Given the description of an element on the screen output the (x, y) to click on. 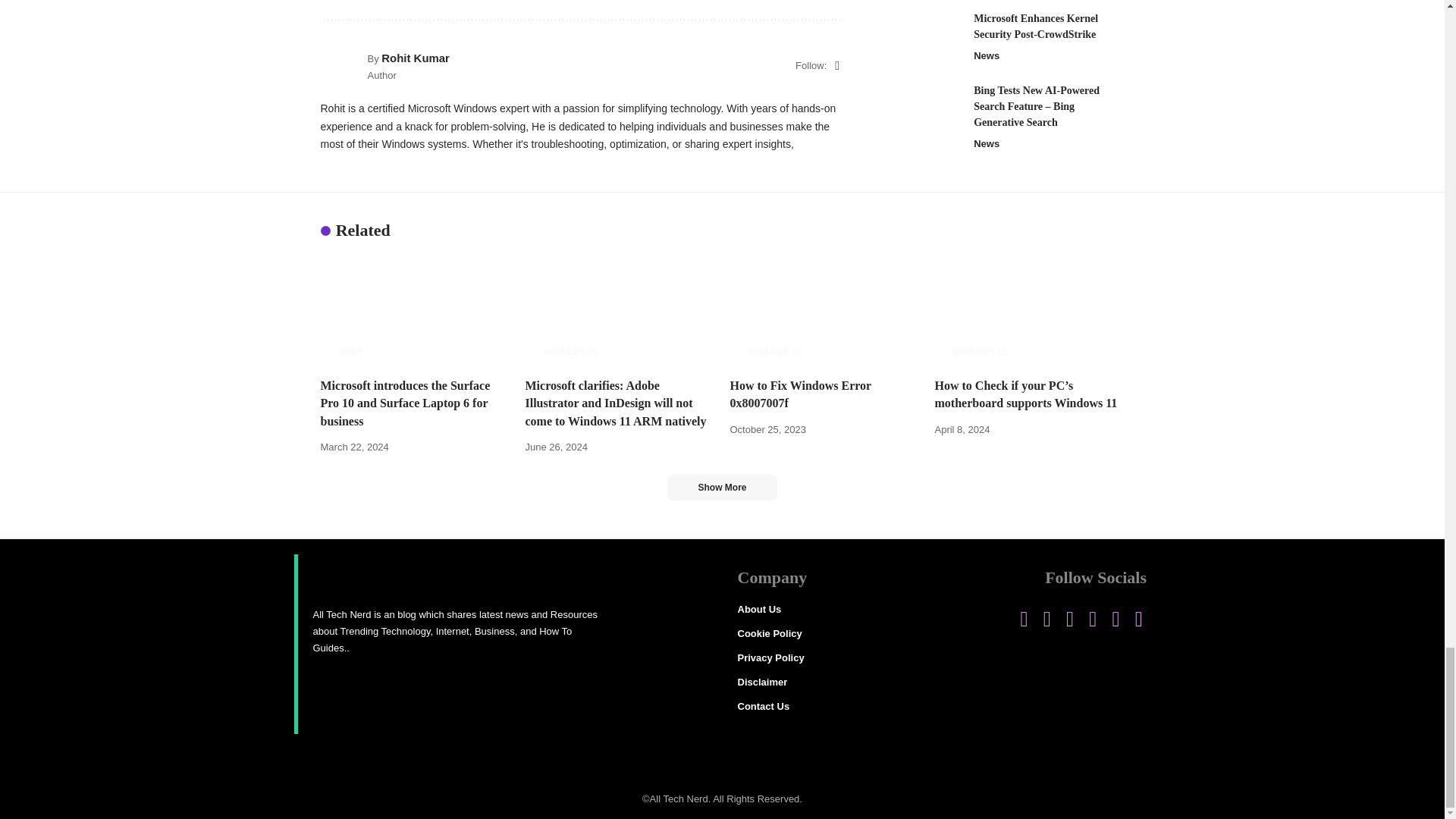
How to Fix Windows Error 0x8007007f (823, 310)
